Given the description of an element on the screen output the (x, y) to click on. 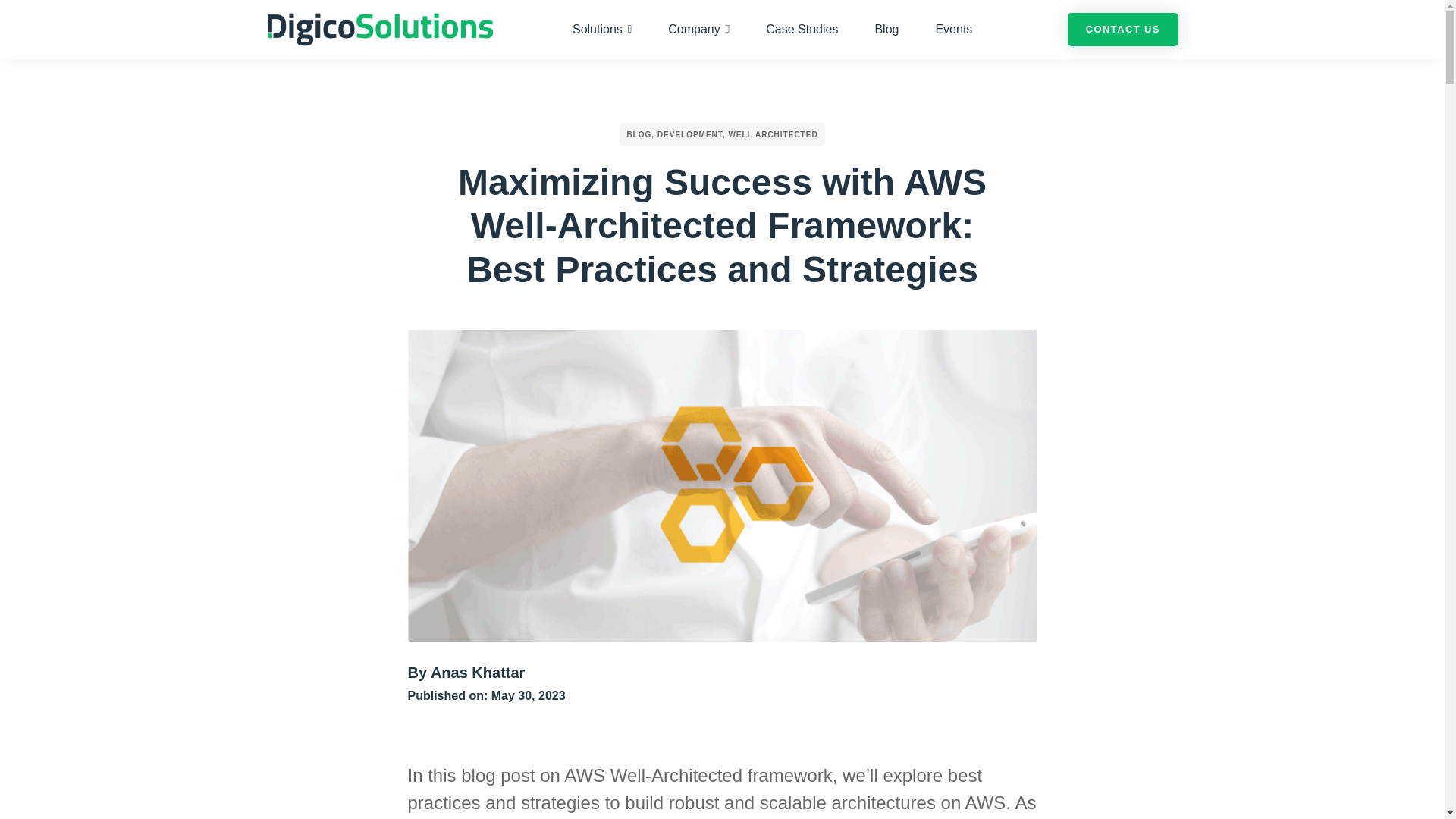
Solutions (602, 29)
Case Studies (801, 29)
Company (698, 29)
Blog (885, 29)
Events (953, 29)
